Given the description of an element on the screen output the (x, y) to click on. 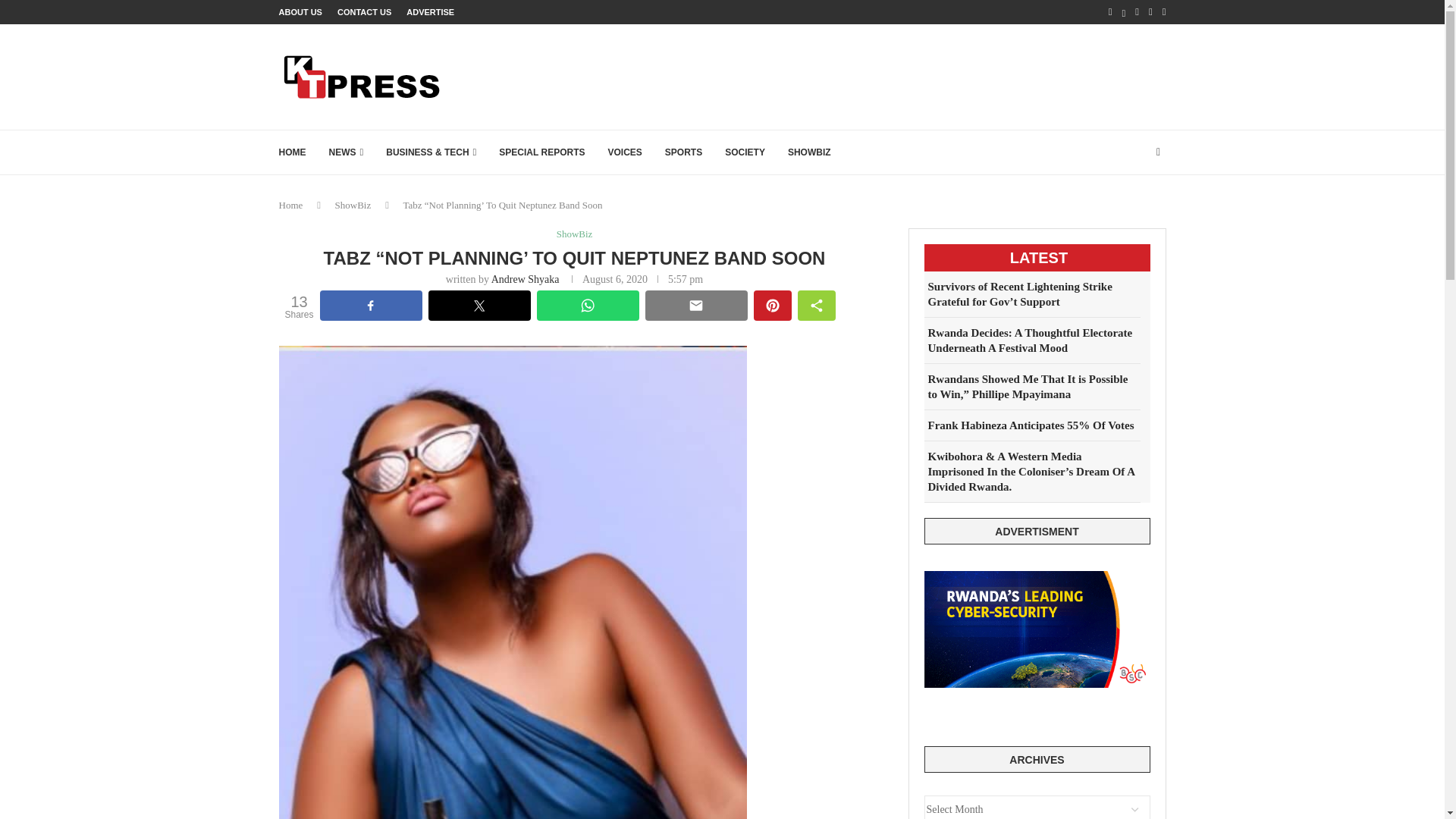
SPECIAL REPORTS (542, 152)
ShowBiz (352, 204)
ADVERTISE (430, 12)
Andrew Shyaka (525, 279)
CONTACT US (364, 12)
SHOWBIZ (809, 152)
SOCIETY (745, 152)
Home (290, 204)
Andrew Shyaka (525, 279)
ShowBiz (574, 234)
ABOUT US (300, 12)
